Given the description of an element on the screen output the (x, y) to click on. 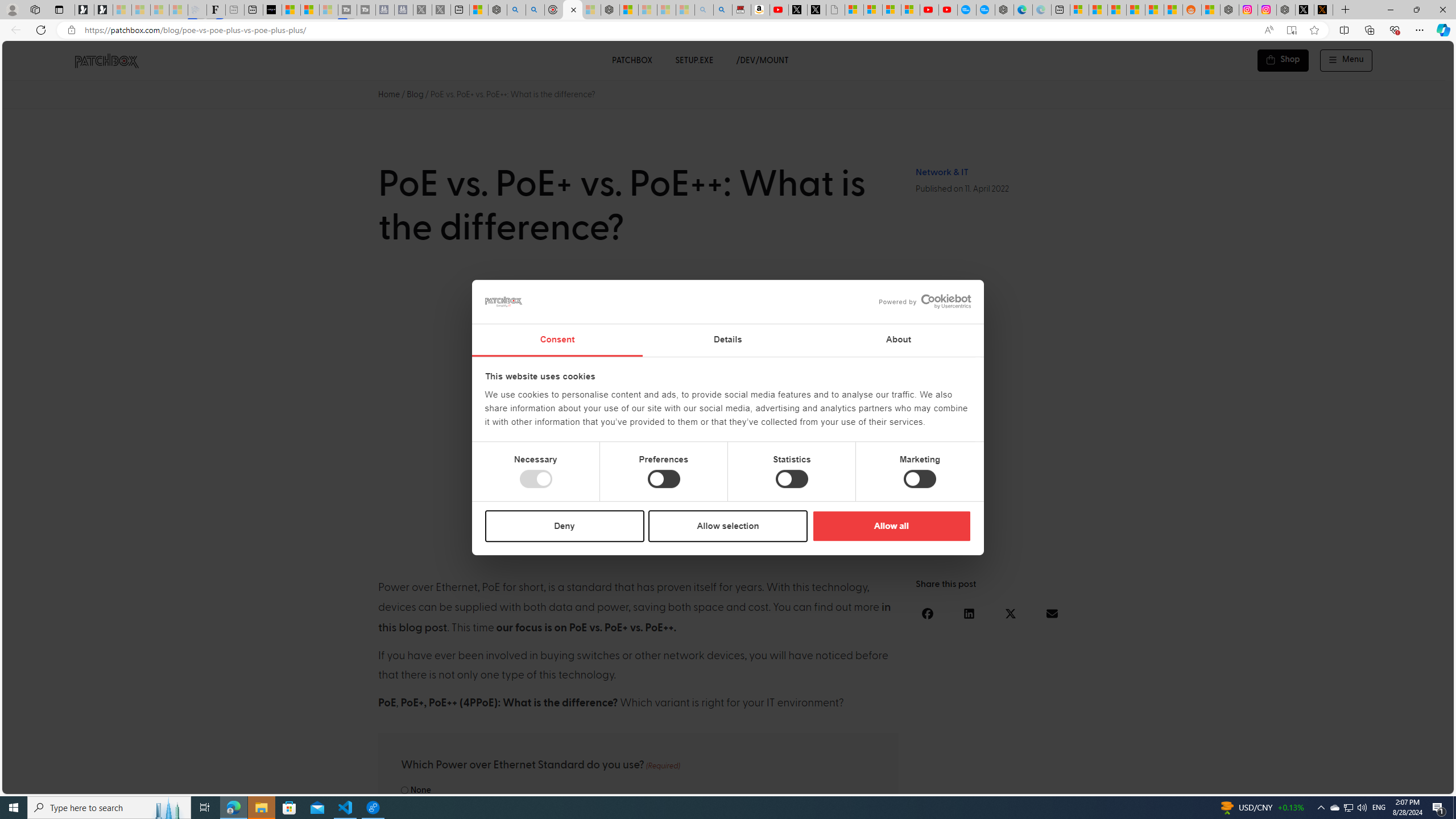
SETUP.EXE (694, 60)
Marketing (920, 479)
Share on facebook (927, 613)
